Given the description of an element on the screen output the (x, y) to click on. 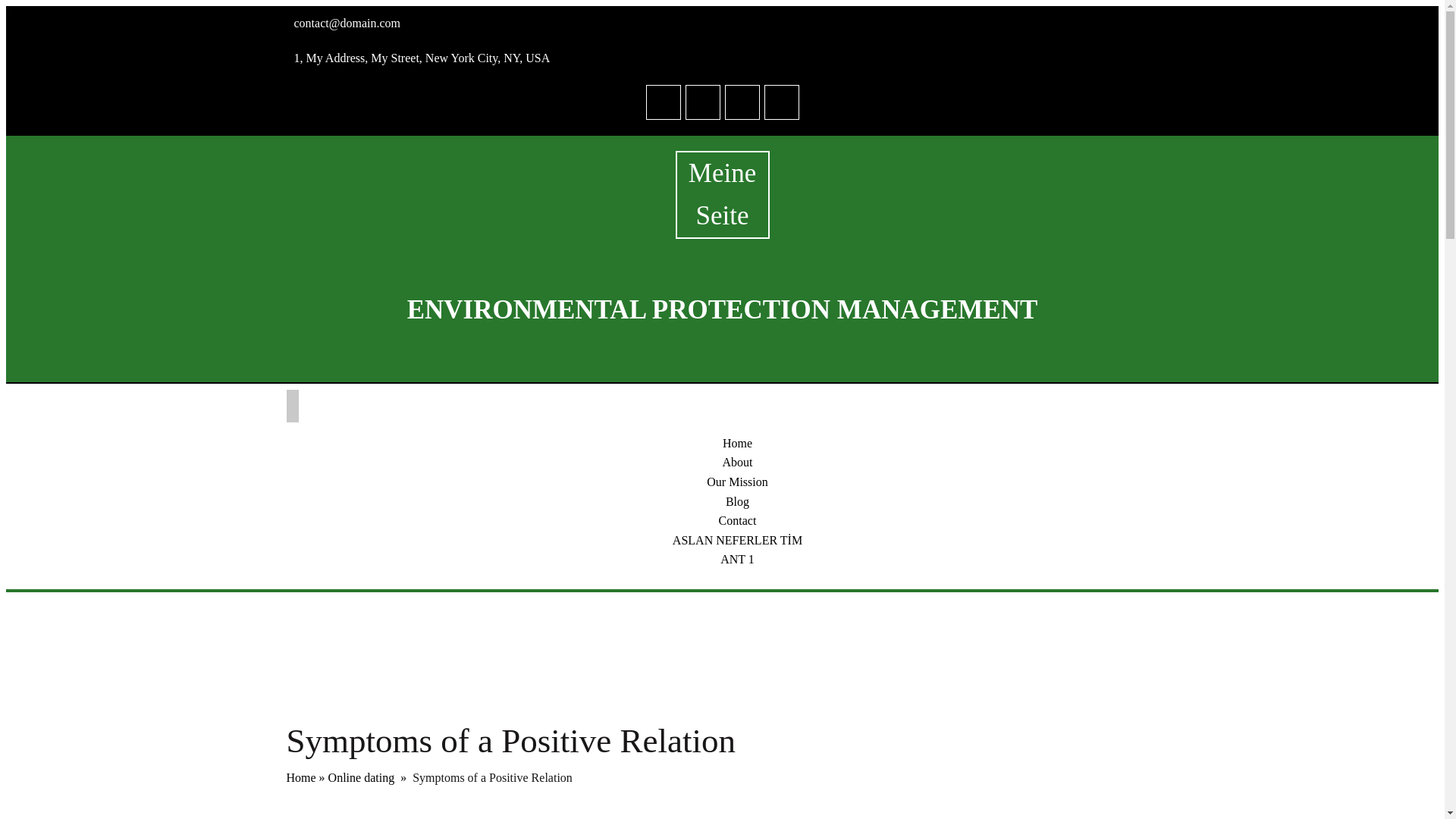
Contact (737, 520)
Meine Seite (722, 194)
Online dating (361, 777)
Our Mission (736, 481)
Blog (737, 501)
ANT 1 (737, 559)
About (737, 461)
Home (737, 443)
Home (300, 777)
